Given the description of an element on the screen output the (x, y) to click on. 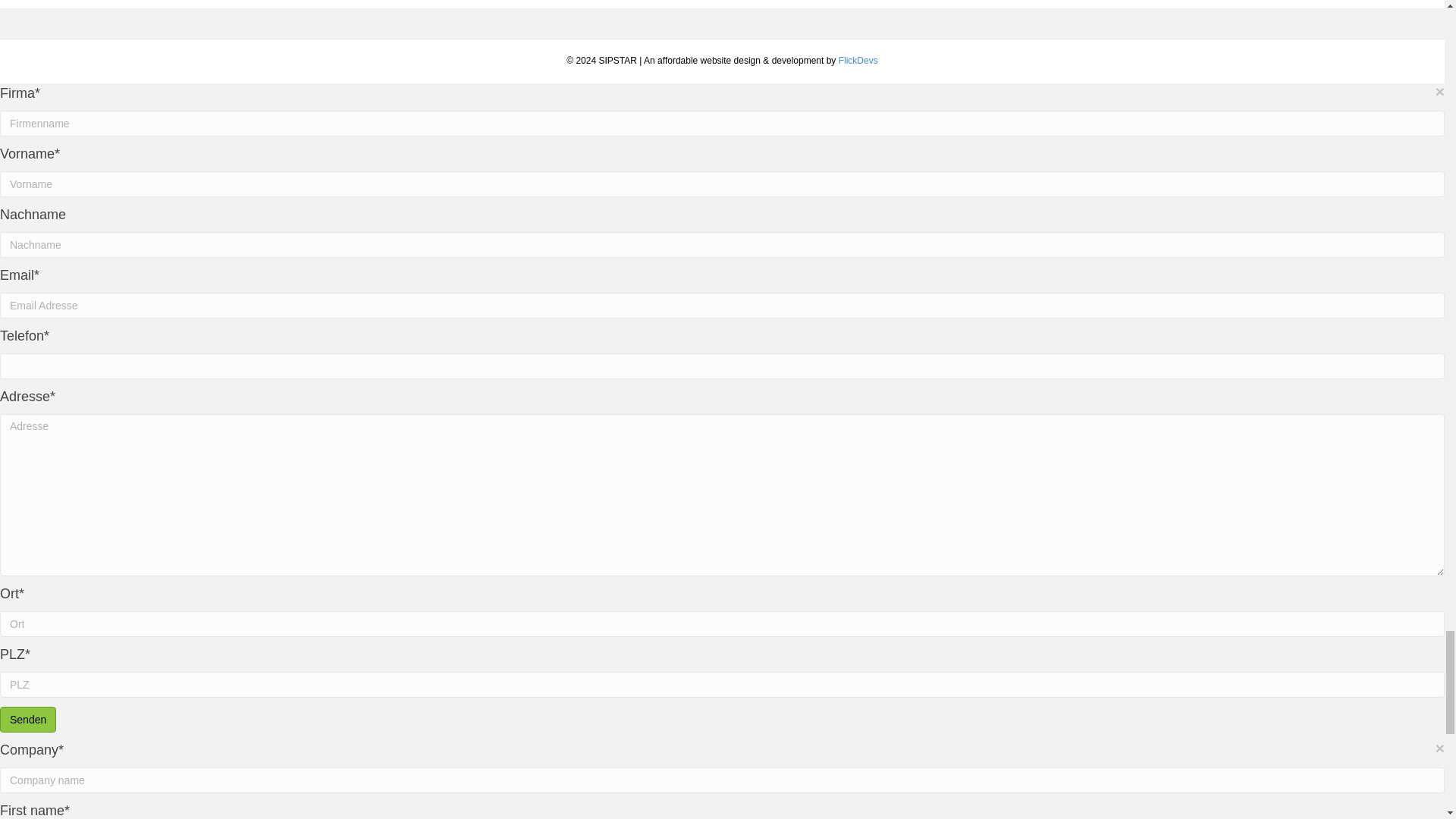
Senden (28, 719)
FlickDevs (857, 60)
Senden (28, 719)
